Given the description of an element on the screen output the (x, y) to click on. 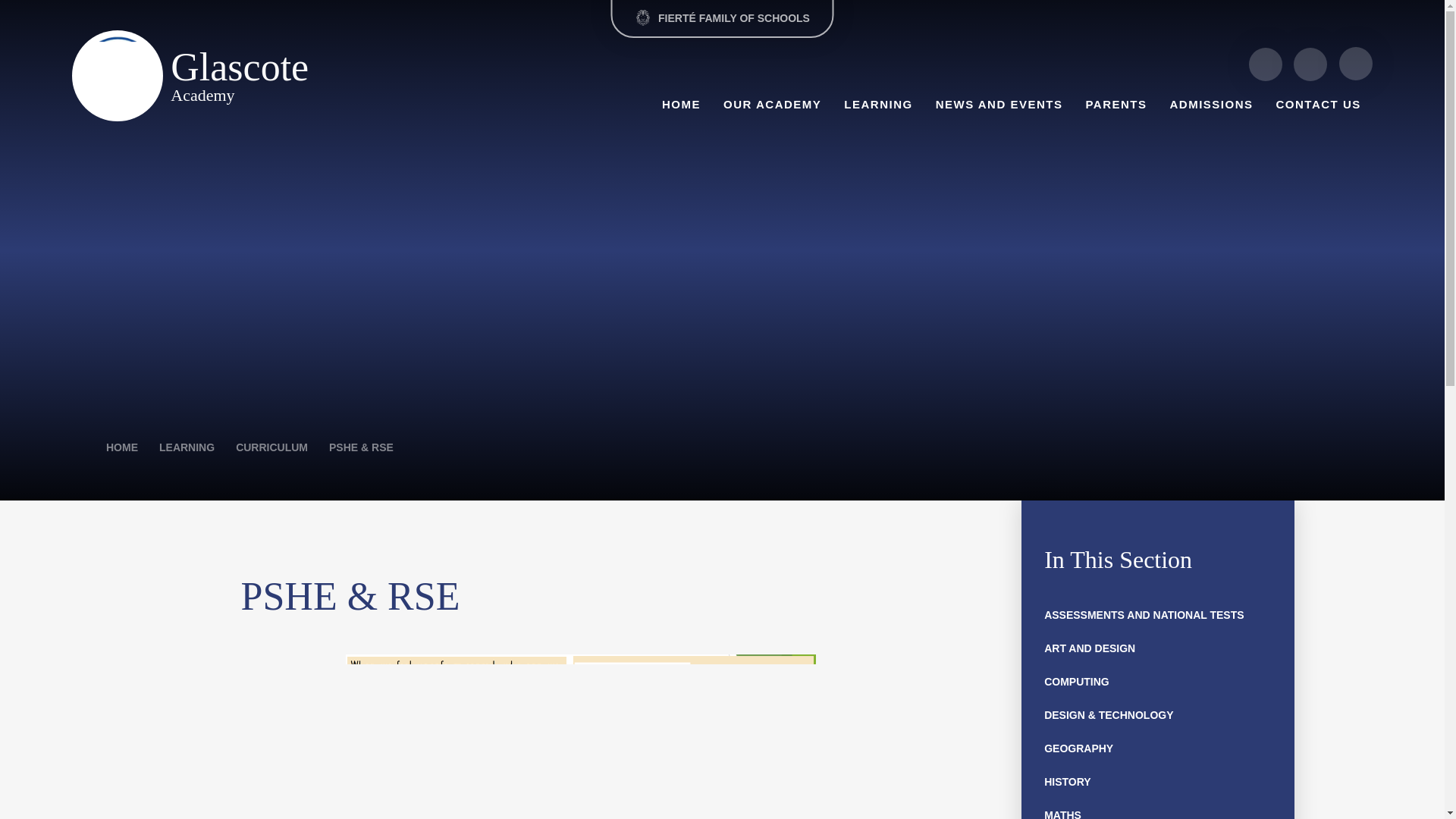
OUR ACADEMY (771, 103)
HOME (680, 103)
LEARNING (877, 103)
NEWS AND EVENTS (999, 103)
